Given the description of an element on the screen output the (x, y) to click on. 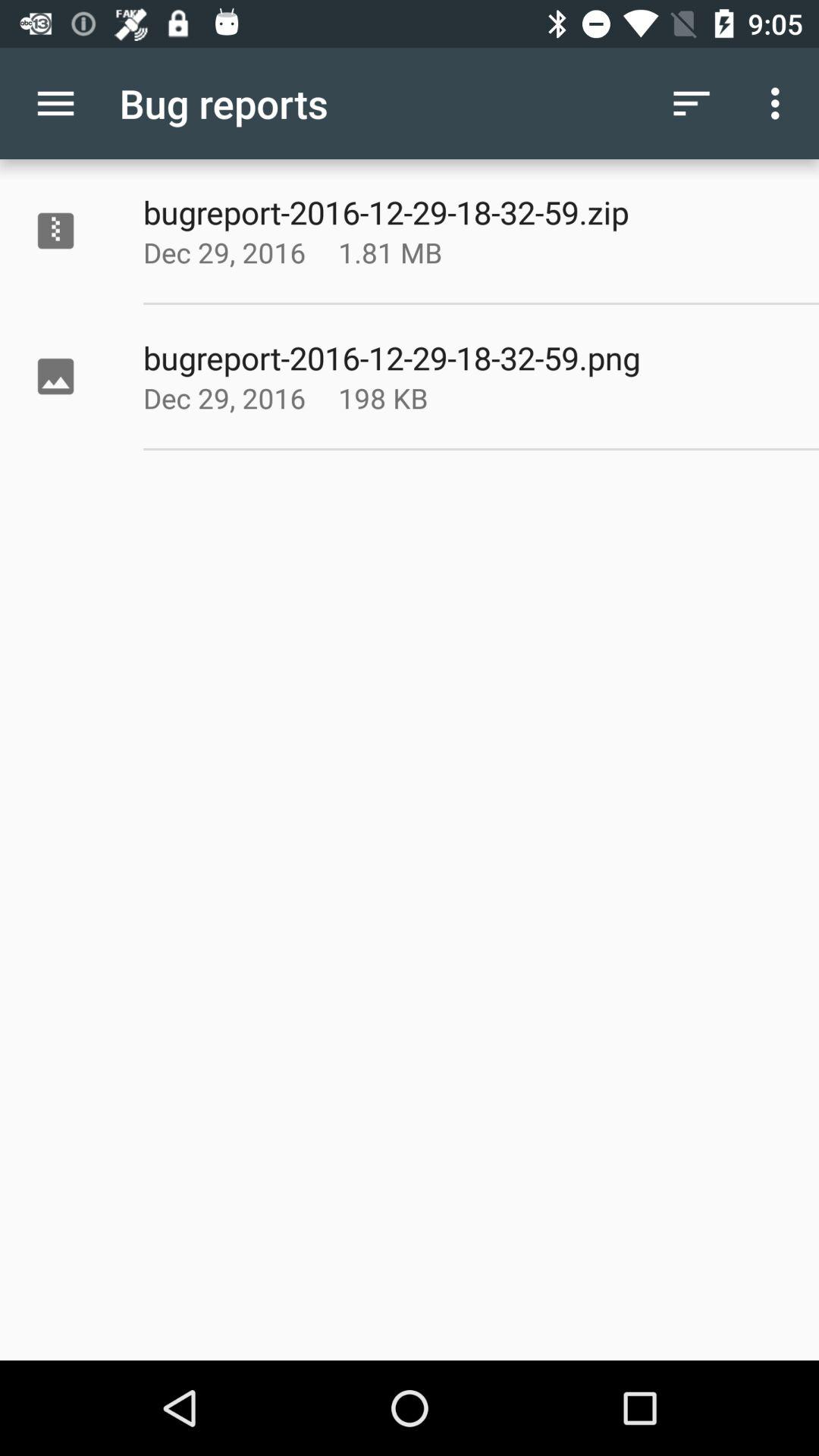
turn off app to the right of the dec 29, 2016 icon (427, 252)
